Given the description of an element on the screen output the (x, y) to click on. 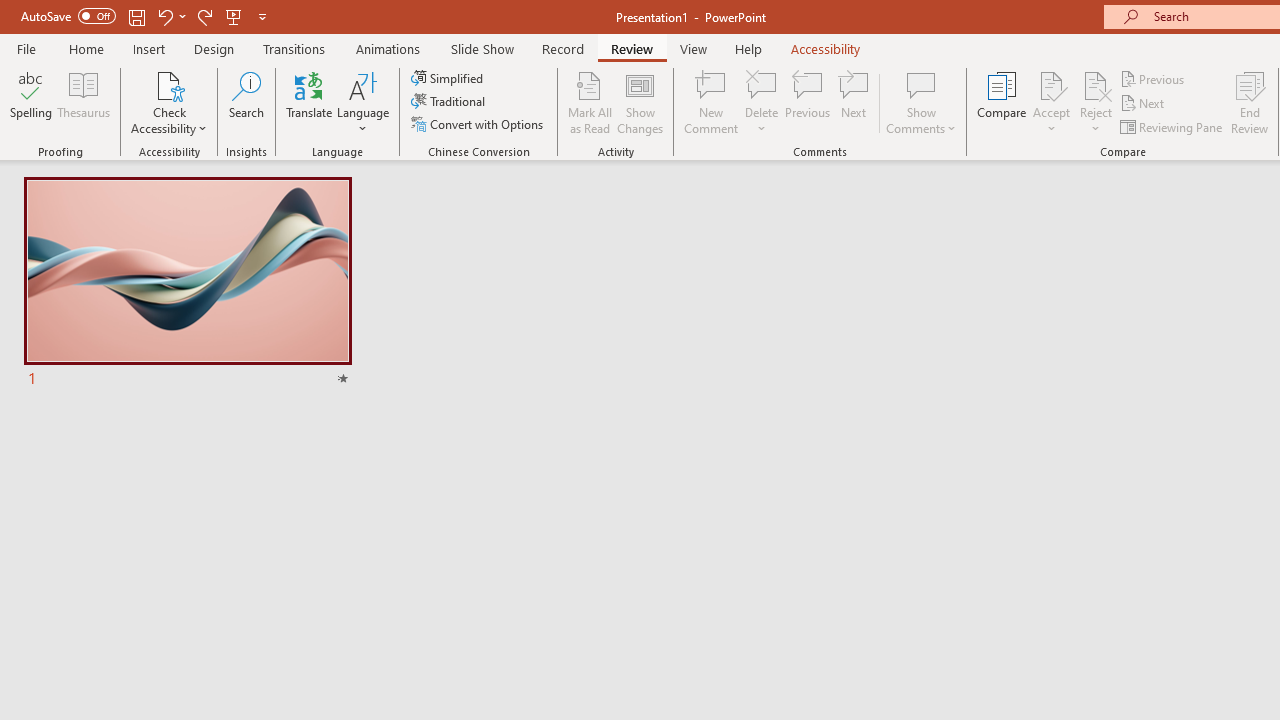
Previous (1153, 78)
Show Changes (639, 102)
Compare (1002, 102)
Translate (309, 102)
